Given the description of an element on the screen output the (x, y) to click on. 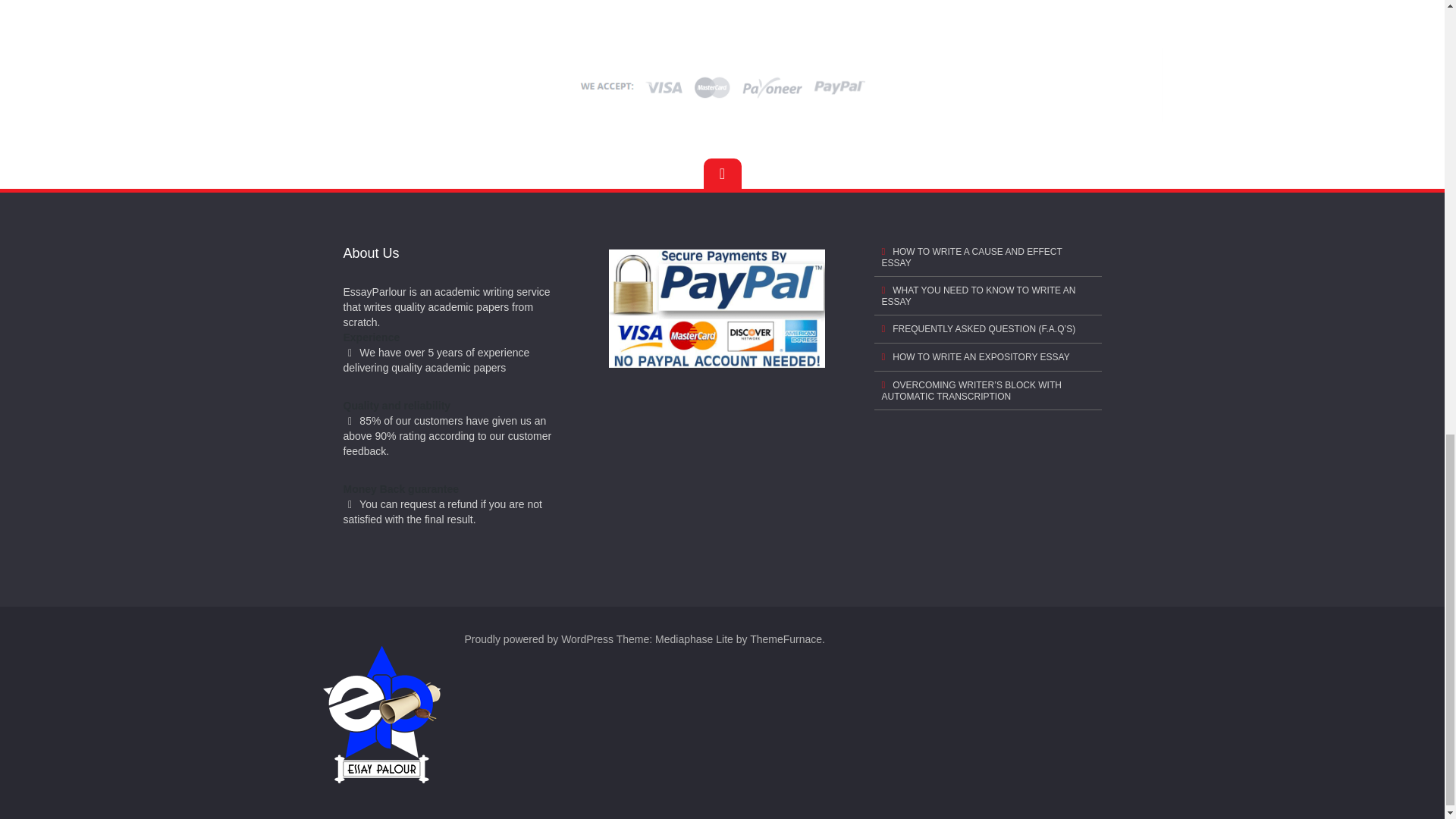
HOW TO WRITE A CAUSE AND EFFECT ESSAY (986, 257)
ThemeFurnace (785, 639)
HOW TO WRITE AN EXPOSITORY ESSAY (986, 357)
Proudly powered by WordPress (538, 639)
WHAT YOU NEED TO KNOW TO WRITE AN ESSAY (986, 295)
